Given the description of an element on the screen output the (x, y) to click on. 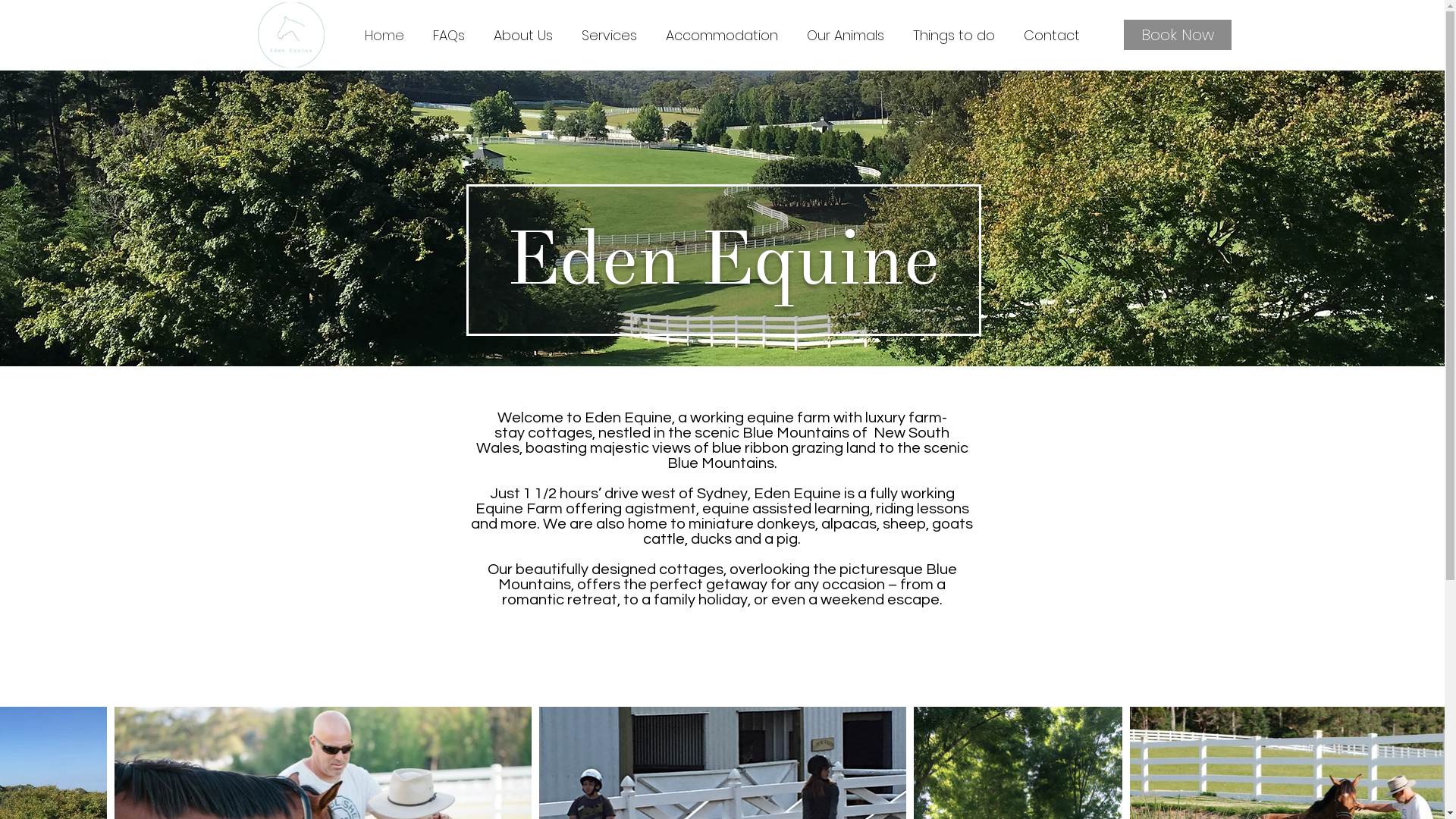
Accommodation Element type: text (720, 35)
Home Element type: text (383, 35)
Contact Element type: text (1050, 35)
About Us Element type: text (523, 35)
Things to do Element type: text (952, 35)
Book Now Element type: text (1177, 34)
FAQs Element type: text (448, 35)
Services Element type: text (609, 35)
Our Animals Element type: text (844, 35)
